Given the description of an element on the screen output the (x, y) to click on. 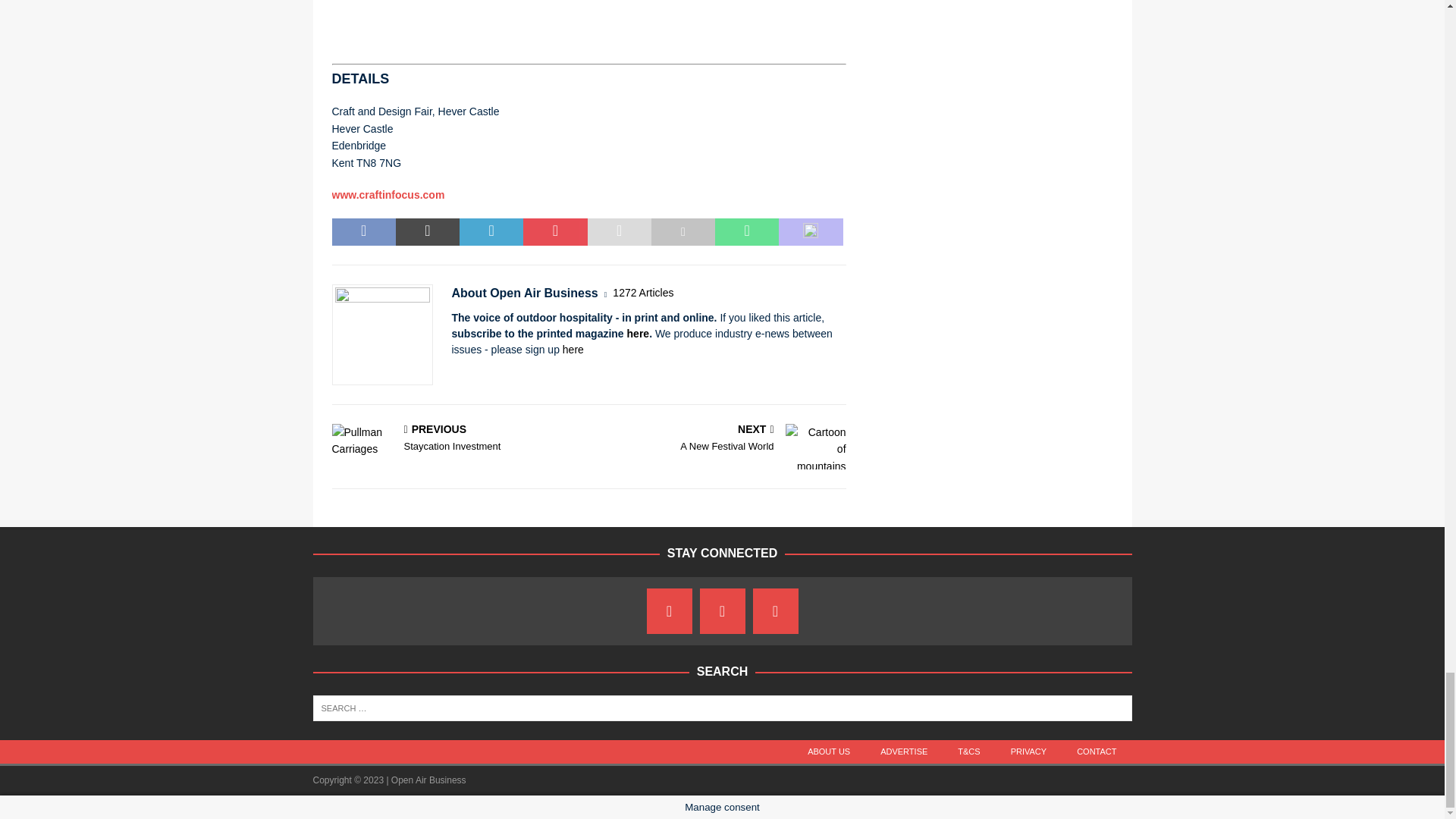
Share on Facebook (363, 231)
Share On Mastodon (810, 231)
Print this article (682, 231)
Send this article to a friend (619, 231)
www.craftinfocus.com (388, 194)
Share on Whatsapp (746, 231)
Share on LinkedIn (491, 231)
More articles written by Open Air Business' (642, 293)
Pin This Post (554, 231)
Tweet This Post (428, 231)
